Given the description of an element on the screen output the (x, y) to click on. 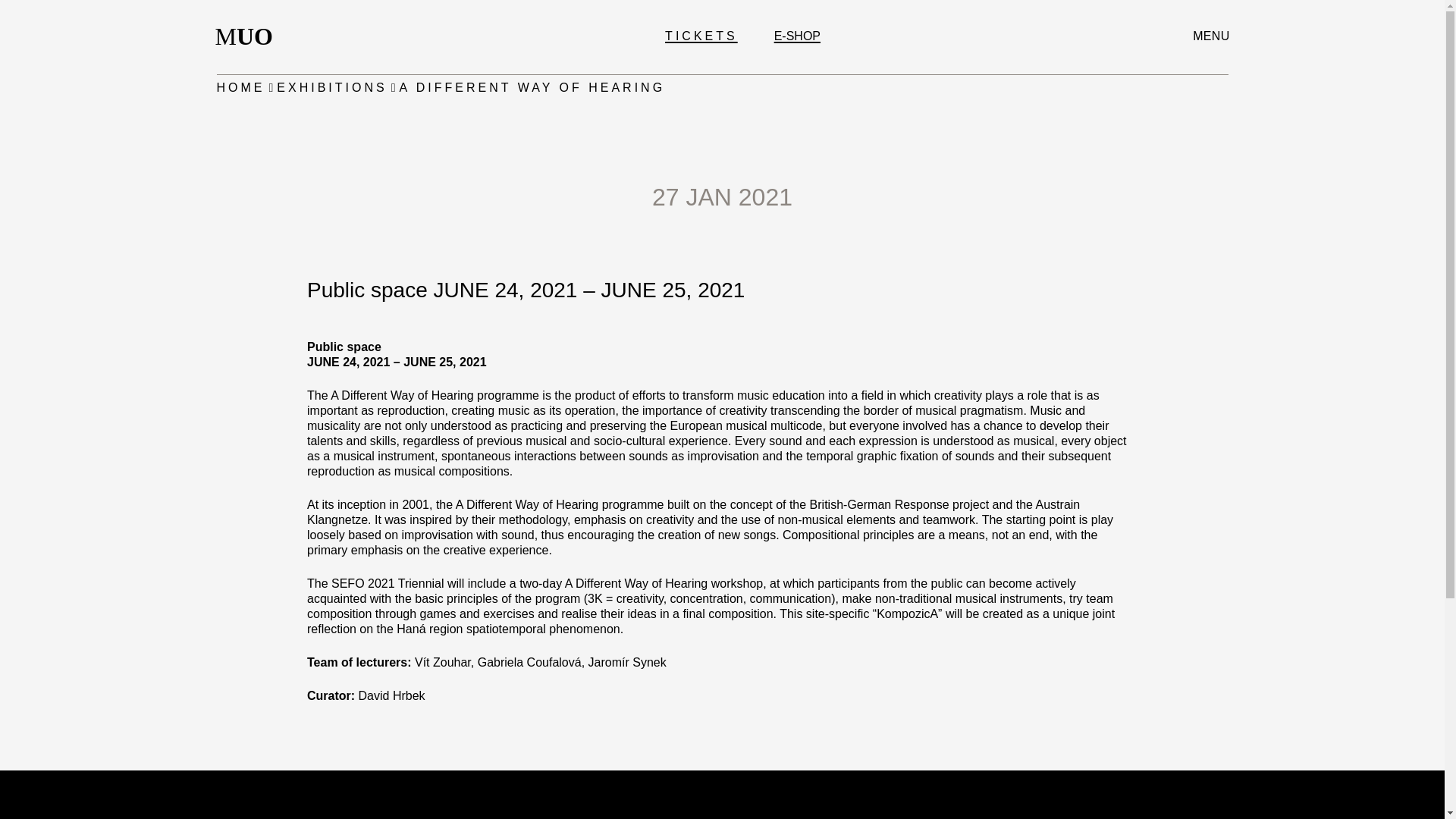
E-SHOP (797, 35)
TICKETS (248, 36)
HOME (701, 35)
MUSEUM OF MODERN ART (240, 88)
